Given the description of an element on the screen output the (x, y) to click on. 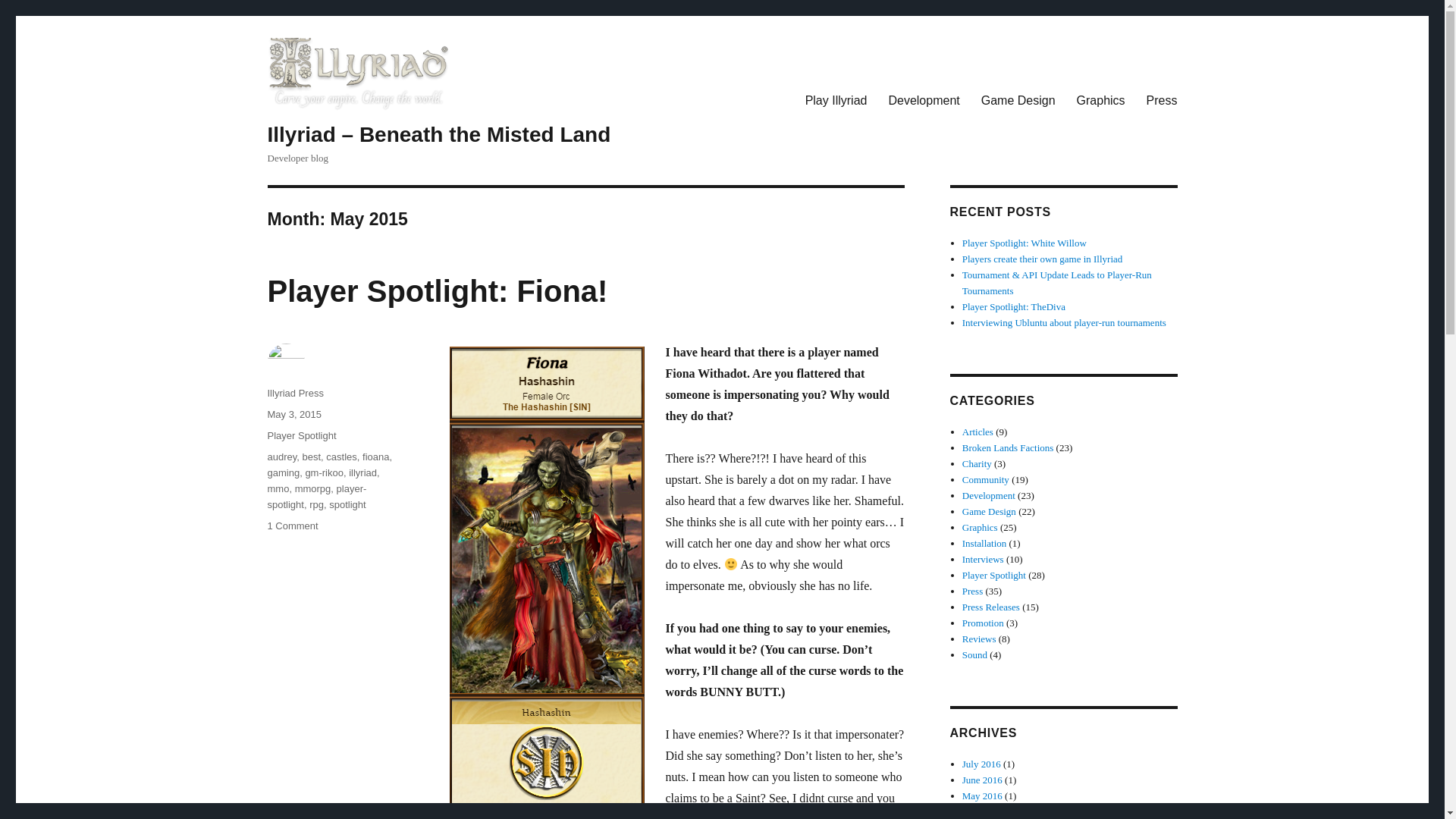
mmo (277, 488)
Community (985, 479)
castles (341, 456)
Players create their own game in Illyriad (1042, 258)
Broken Lands Factions (1008, 447)
Development (988, 495)
player-spotlight (316, 496)
Graphics (979, 527)
Graphics (1100, 100)
Game Design (989, 511)
